Given the description of an element on the screen output the (x, y) to click on. 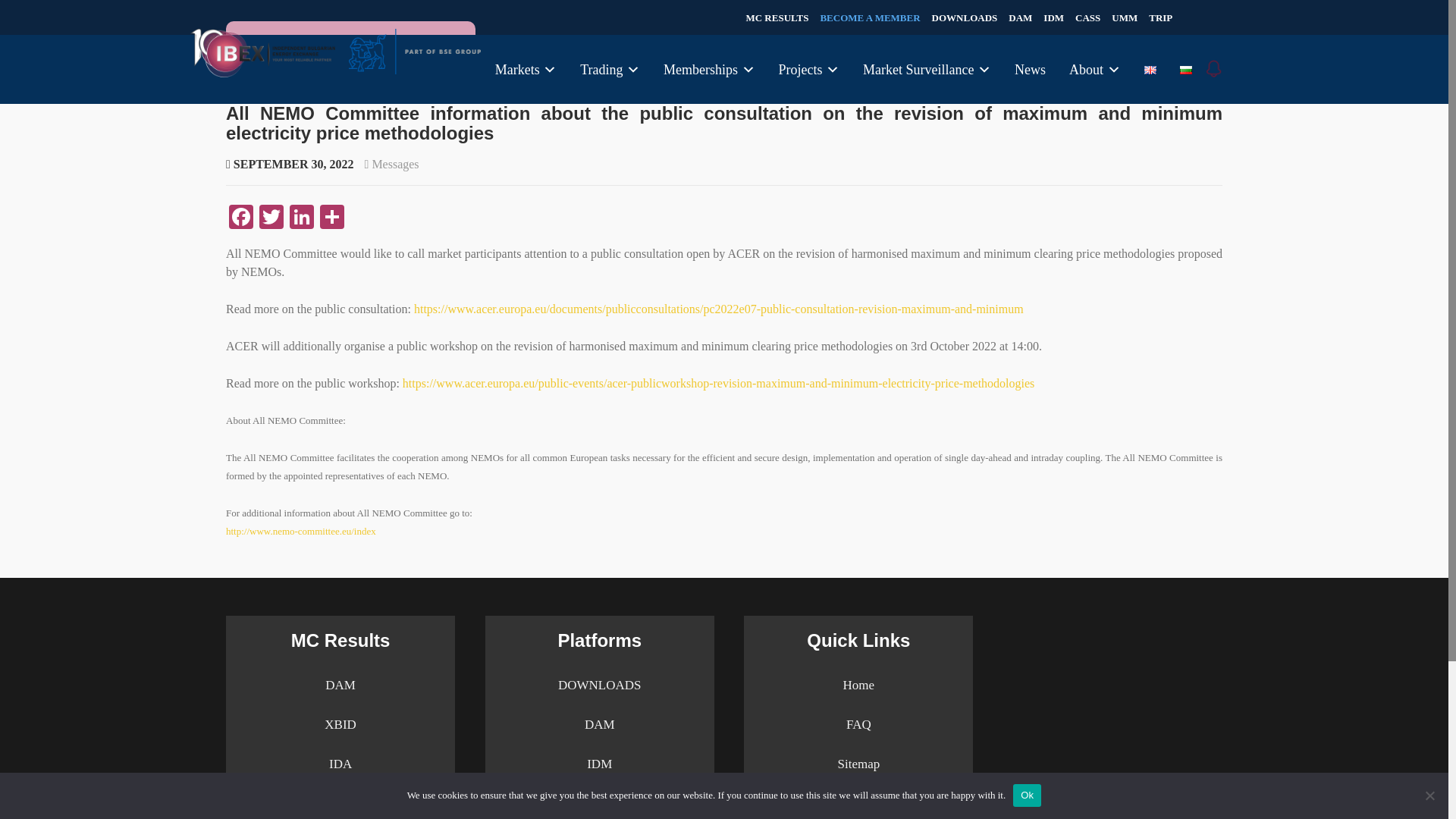
IDM (1053, 17)
UMM (1124, 17)
LinkedIn (301, 218)
MC RESULTS (776, 17)
MC RESULTS (776, 17)
DAM (1020, 17)
TRIP (1160, 17)
DOWNLOADS (964, 17)
CASS (1087, 17)
CASS (1087, 17)
Markets (525, 69)
BECOME A MEMBER (869, 17)
Facebook (240, 218)
Twitter (271, 218)
BECOME A MEMBER (869, 17)
